Given the description of an element on the screen output the (x, y) to click on. 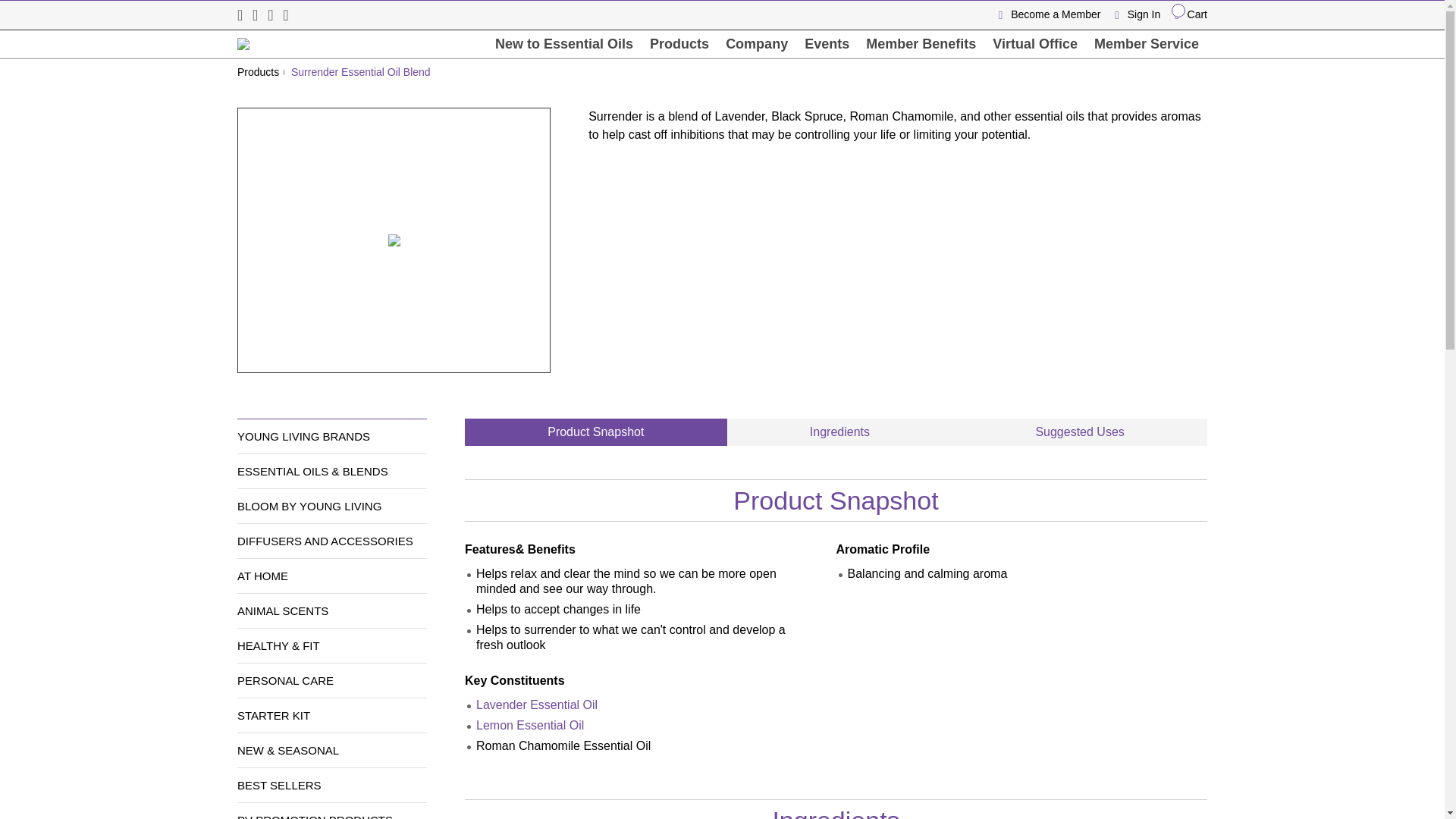
Products (679, 44)
New to Essential Oils (564, 44)
Sign In (1133, 14)
Become a Member (1050, 14)
Cart (1185, 14)
